Given the description of an element on the screen output the (x, y) to click on. 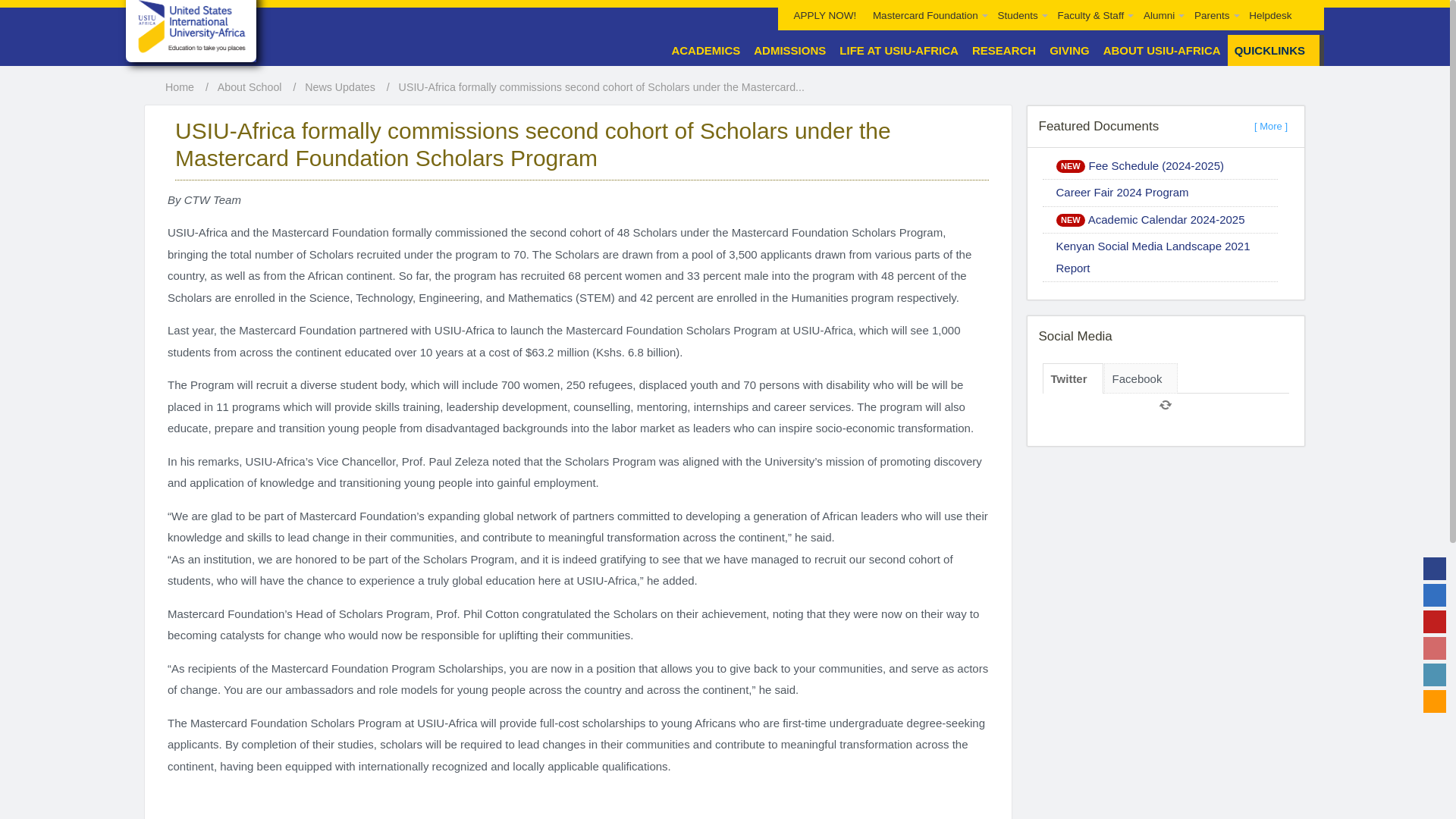
YouTube (1434, 621)
Students (1019, 15)
Facebook (1434, 568)
Search (1308, 5)
APPLY NOW! (825, 15)
Talk to us (1434, 701)
X (1434, 594)
Mastercard Foundation (927, 15)
YouTube video player (577, 803)
Instagram (1434, 648)
